Given the description of an element on the screen output the (x, y) to click on. 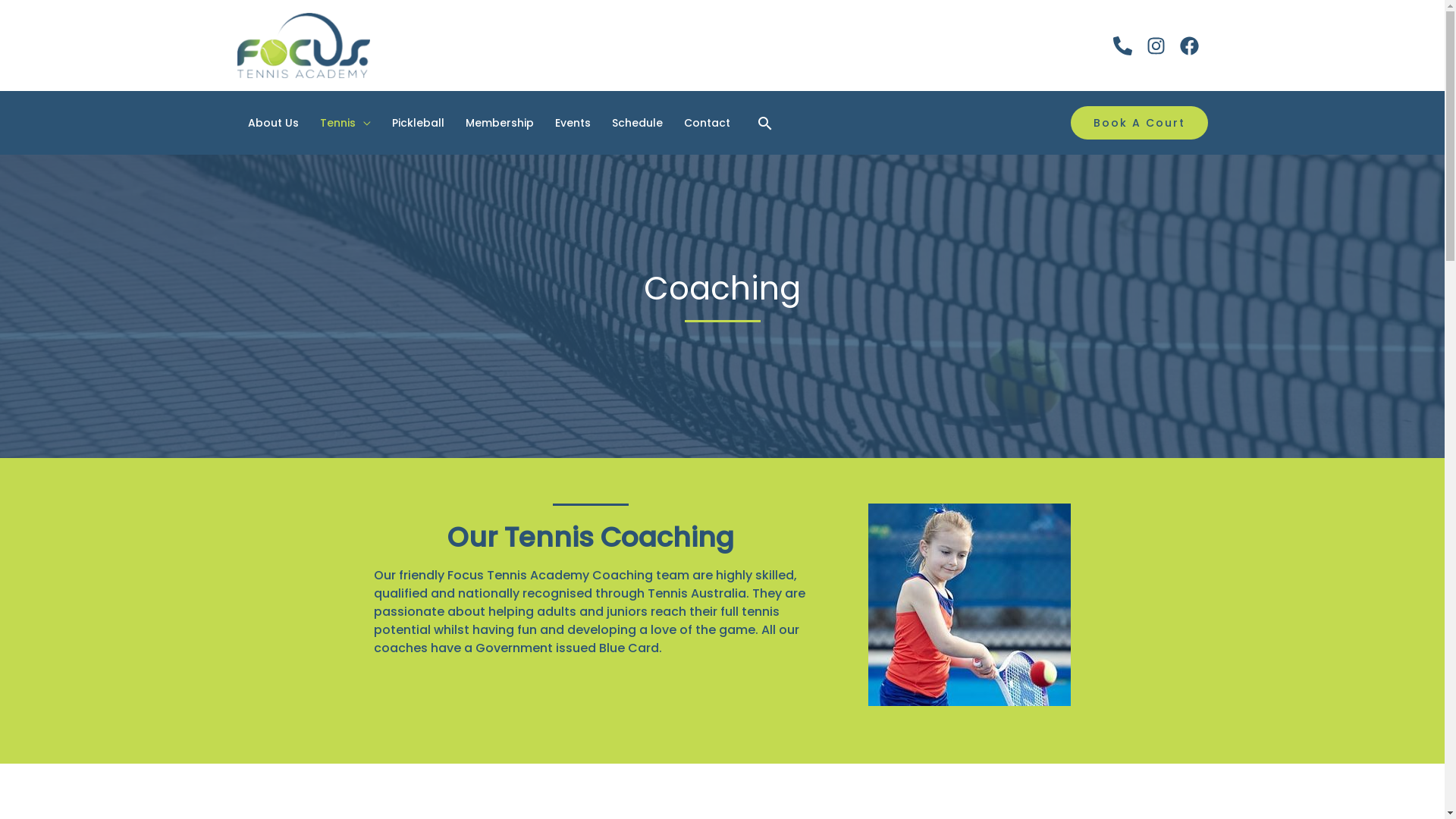
Tennis Element type: text (345, 122)
Contact Element type: text (706, 122)
Pickleball Element type: text (417, 122)
Events Element type: text (572, 122)
Membership Element type: text (499, 122)
About Us Element type: text (272, 122)
Search Element type: text (764, 122)
Book A Court Element type: text (1139, 122)
Schedule Element type: text (636, 122)
